Given the description of an element on the screen output the (x, y) to click on. 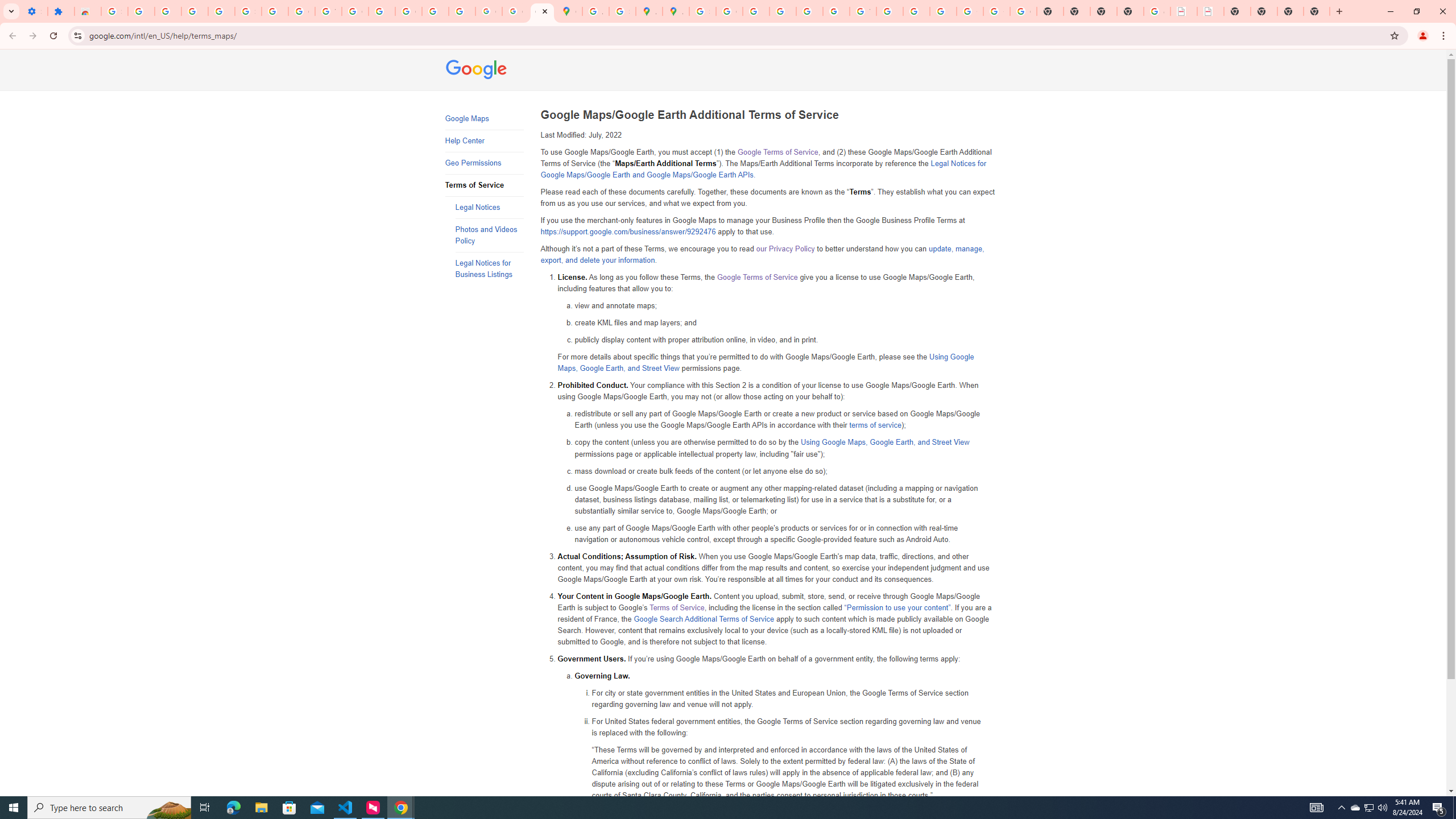
Google Maps (484, 118)
Legal Notices for Business Listings (489, 268)
our Privacy Policy (785, 248)
Reviews: Helix Fruit Jump Arcade Game (87, 11)
terms of service (874, 424)
LAAD Defence & Security 2025 | BAE Systems (1183, 11)
Privacy Help Center - Policies Help (782, 11)
